Given the description of an element on the screen output the (x, y) to click on. 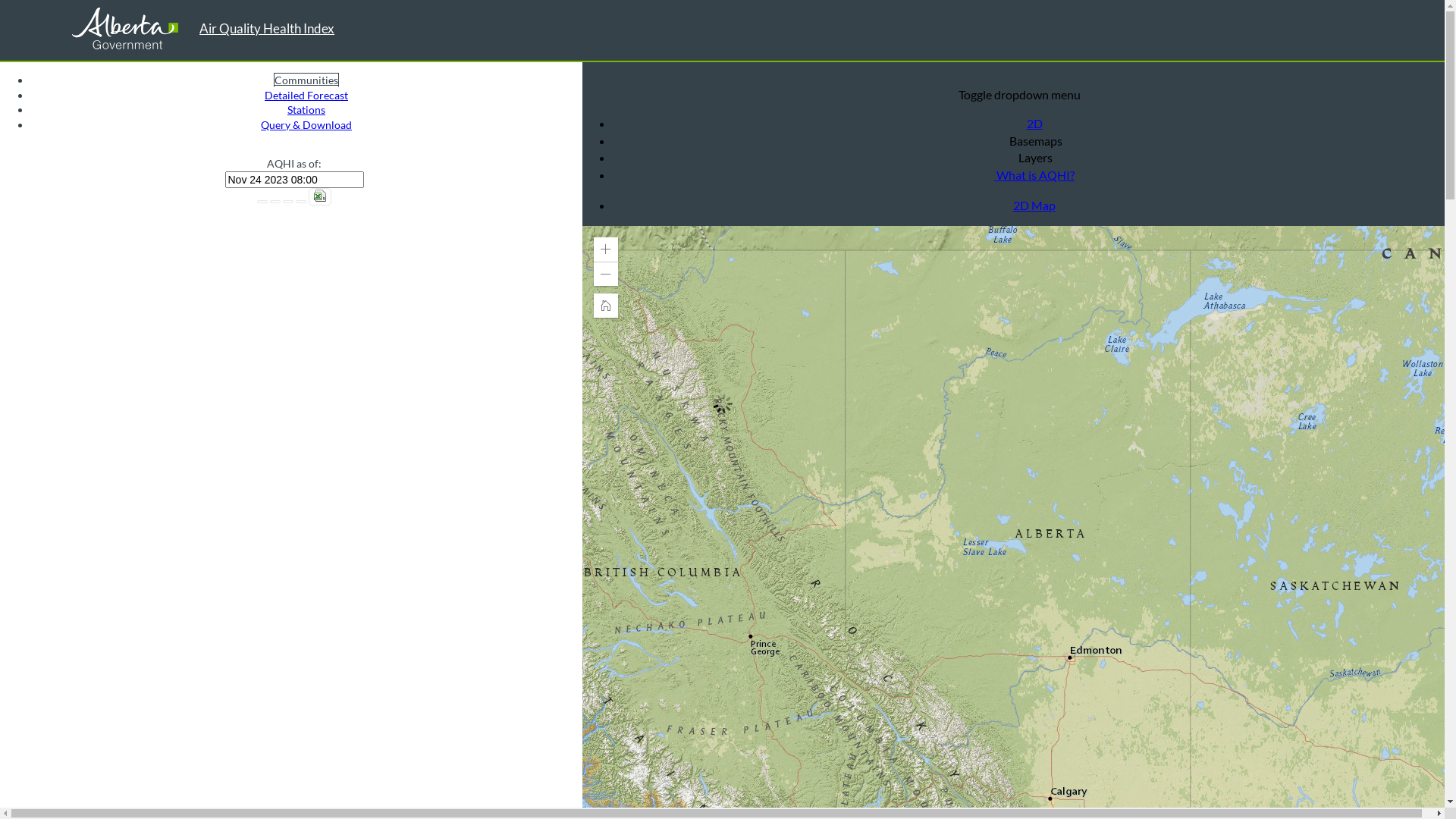
2D Map Element type: text (1034, 204)
Query & Download Element type: text (305, 124)
2D Element type: text (1034, 123)
AQHI Scale Element type: hover (300, 201)
 What is AQHI? Element type: text (1034, 174)
Export to CSV Element type: hover (319, 196)
Communities Element type: text (305, 79)
Next hour Element type: hover (274, 201)
Detailed Forecast Element type: text (306, 94)
Reset Element type: hover (287, 201)
Stations Element type: text (306, 109)
Toggle map view  Element type: hover (591, 76)
Air Quality Health Index Element type: text (266, 28)
Previous hour Element type: hover (262, 201)
 Basemaps Element type: text (1034, 140)
 Layers Element type: text (1034, 157)
